Given the description of an element on the screen output the (x, y) to click on. 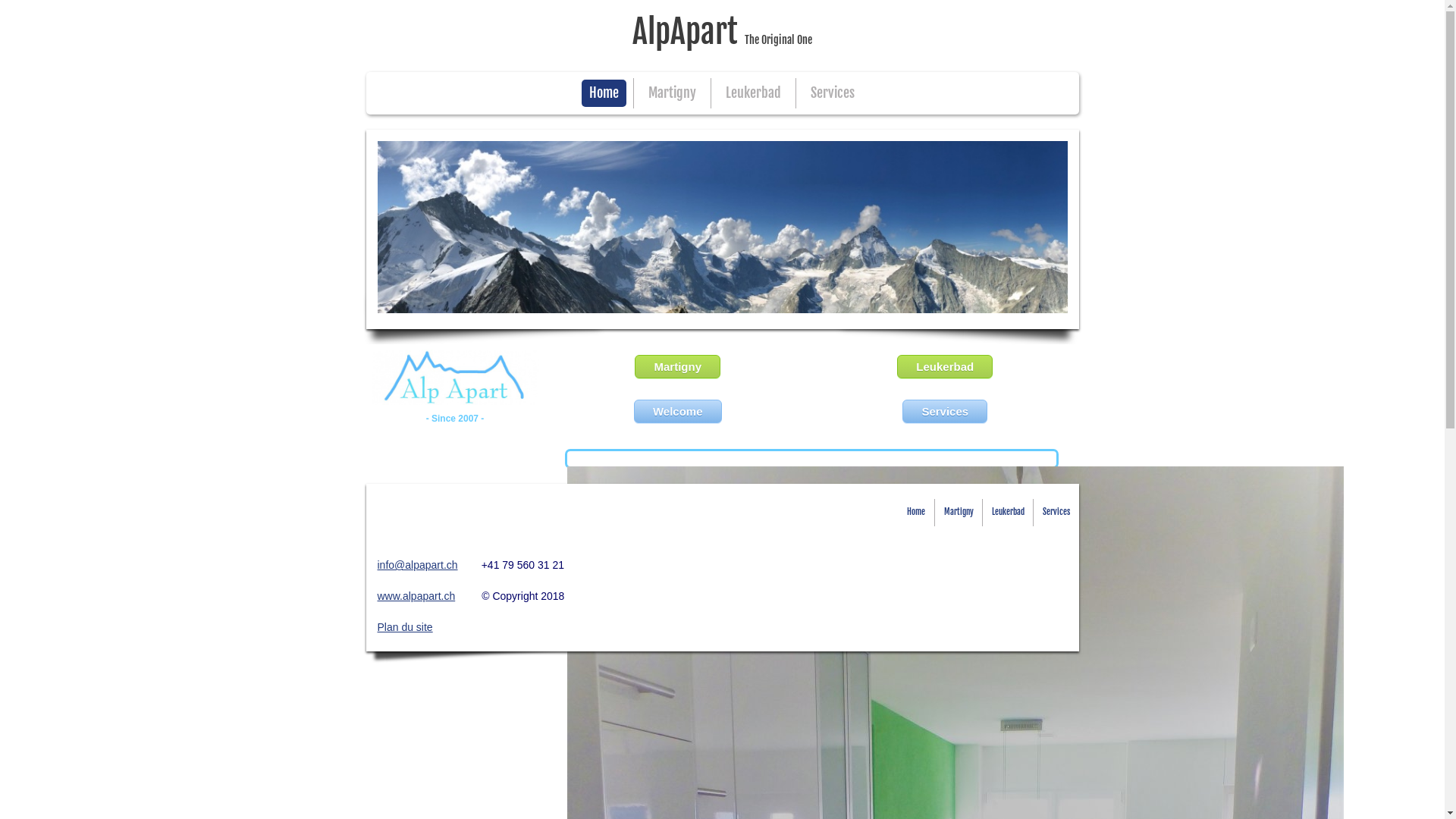
Martigny Element type: text (958, 511)
Plan du site Element type: text (405, 627)
Martigny Element type: text (677, 366)
Home Element type: text (603, 92)
www.alpapart.ch Element type: text (416, 595)
Services Element type: text (832, 92)
Services Element type: text (944, 411)
Services Element type: text (1056, 511)
AlpApart The Original One Element type: text (721, 36)
Welcome Element type: text (677, 411)
Martigny Element type: text (671, 92)
Leukerbad Element type: text (1008, 511)
info@alpapart.ch Element type: text (417, 564)
Leukerbad Element type: text (944, 366)
Home Element type: text (915, 511)
Leukerbad Element type: text (753, 92)
